Given the description of an element on the screen output the (x, y) to click on. 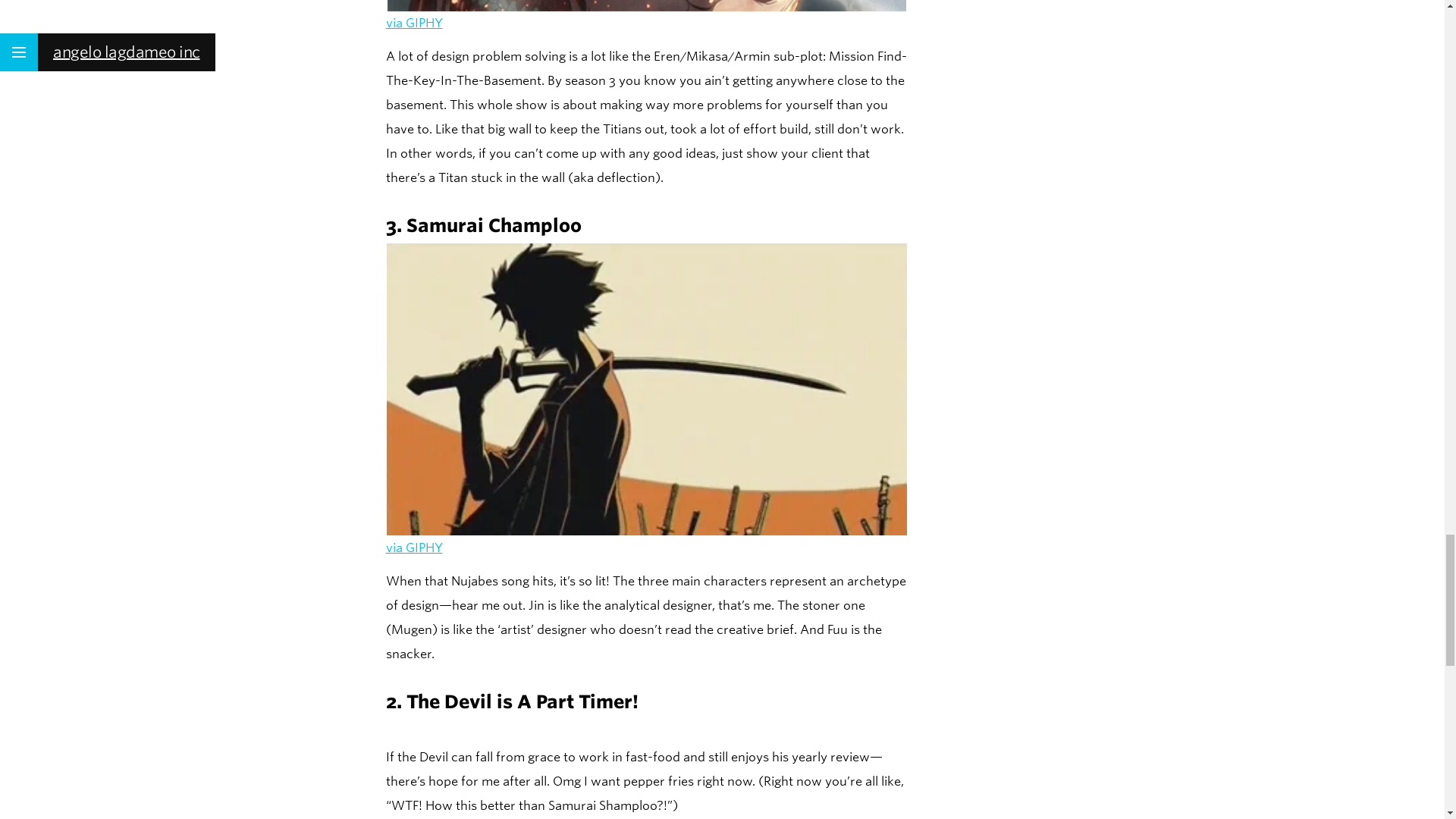
via GIPHY (413, 548)
via GIPHY (413, 23)
